Given the description of an element on the screen output the (x, y) to click on. 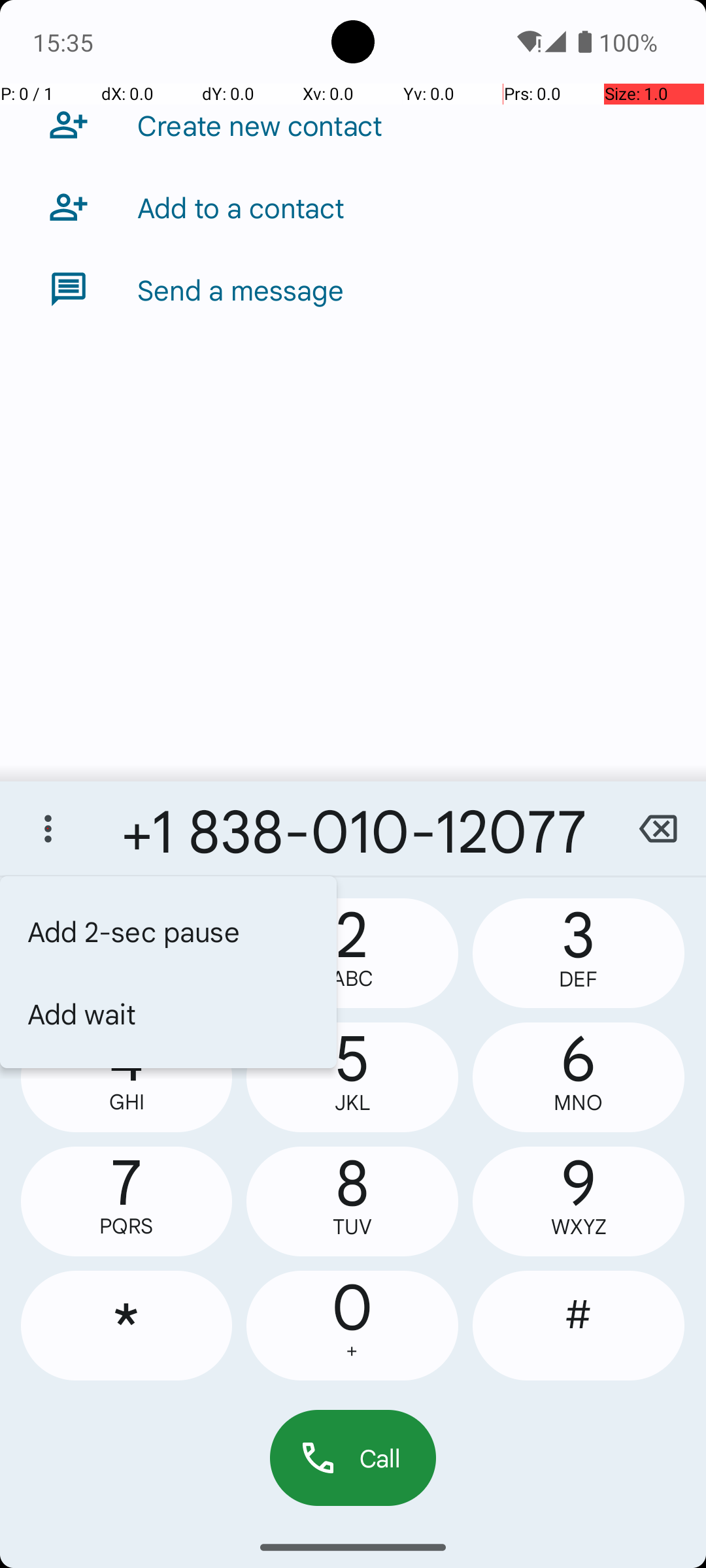
Add 2-sec pause Element type: android.widget.TextView (168, 930)
Add wait Element type: android.widget.TextView (168, 1012)
